Given the description of an element on the screen output the (x, y) to click on. 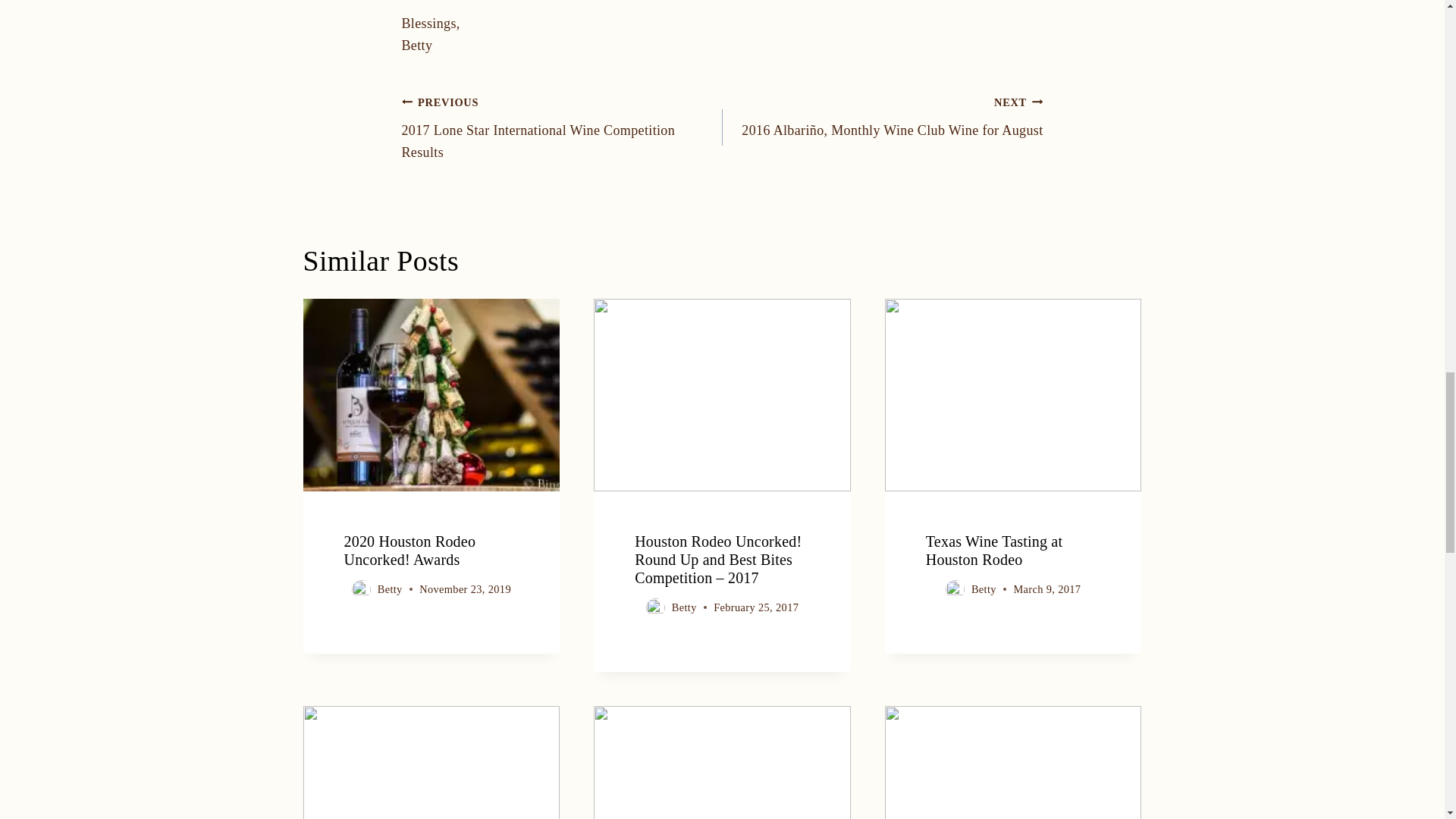
My Post - Bingham Family Vineyards (722, 762)
21-Wine-Medal-Double-Gold - Bingham Family Vineyards (1013, 762)
HoustonLSR - Bingham Family Vineyards (1013, 394)
2020 Houston Rodeo Uncorked! Awards (409, 550)
